Given the description of an element on the screen output the (x, y) to click on. 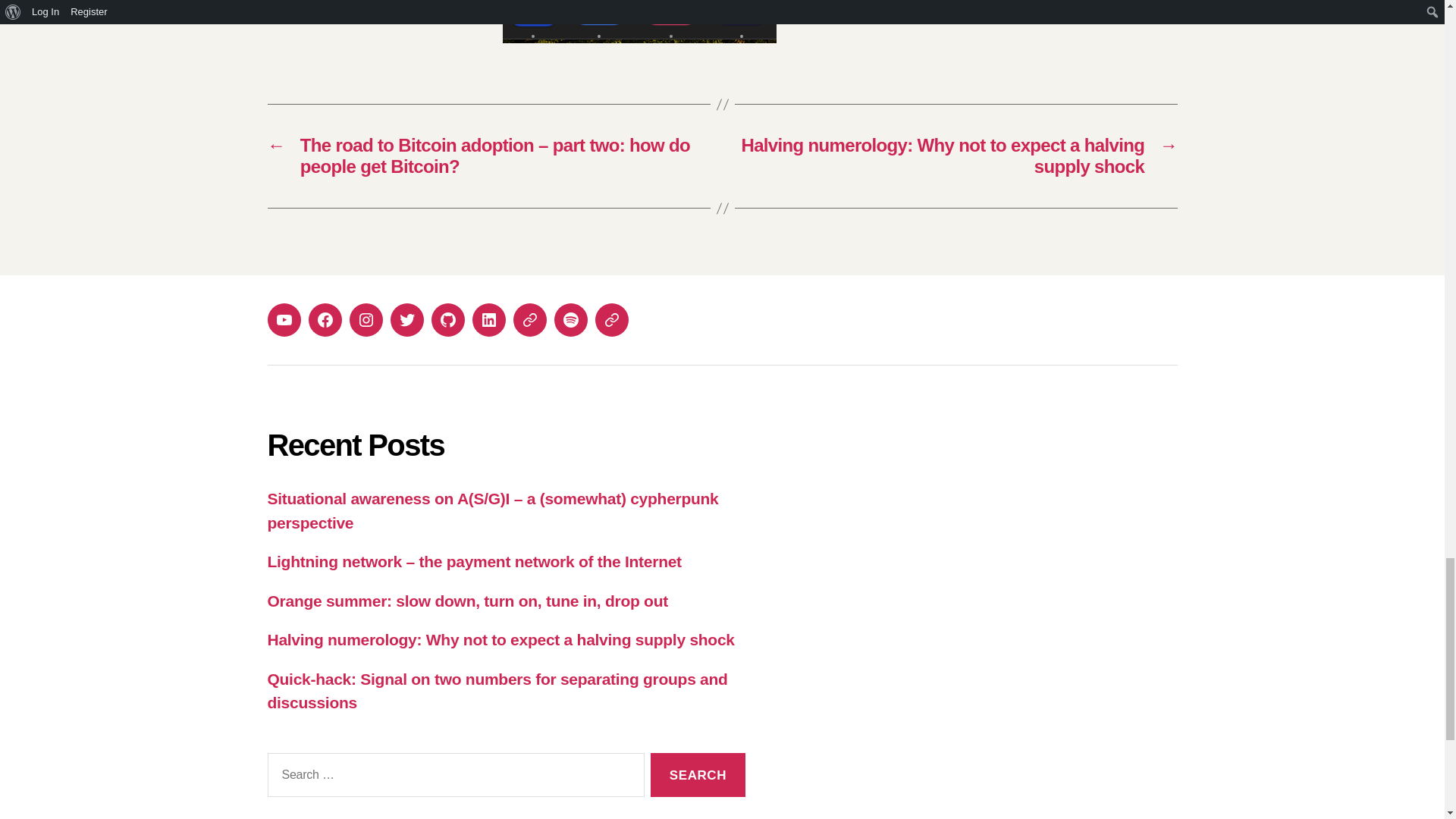
Search (697, 774)
Search (697, 774)
